Given the description of an element on the screen output the (x, y) to click on. 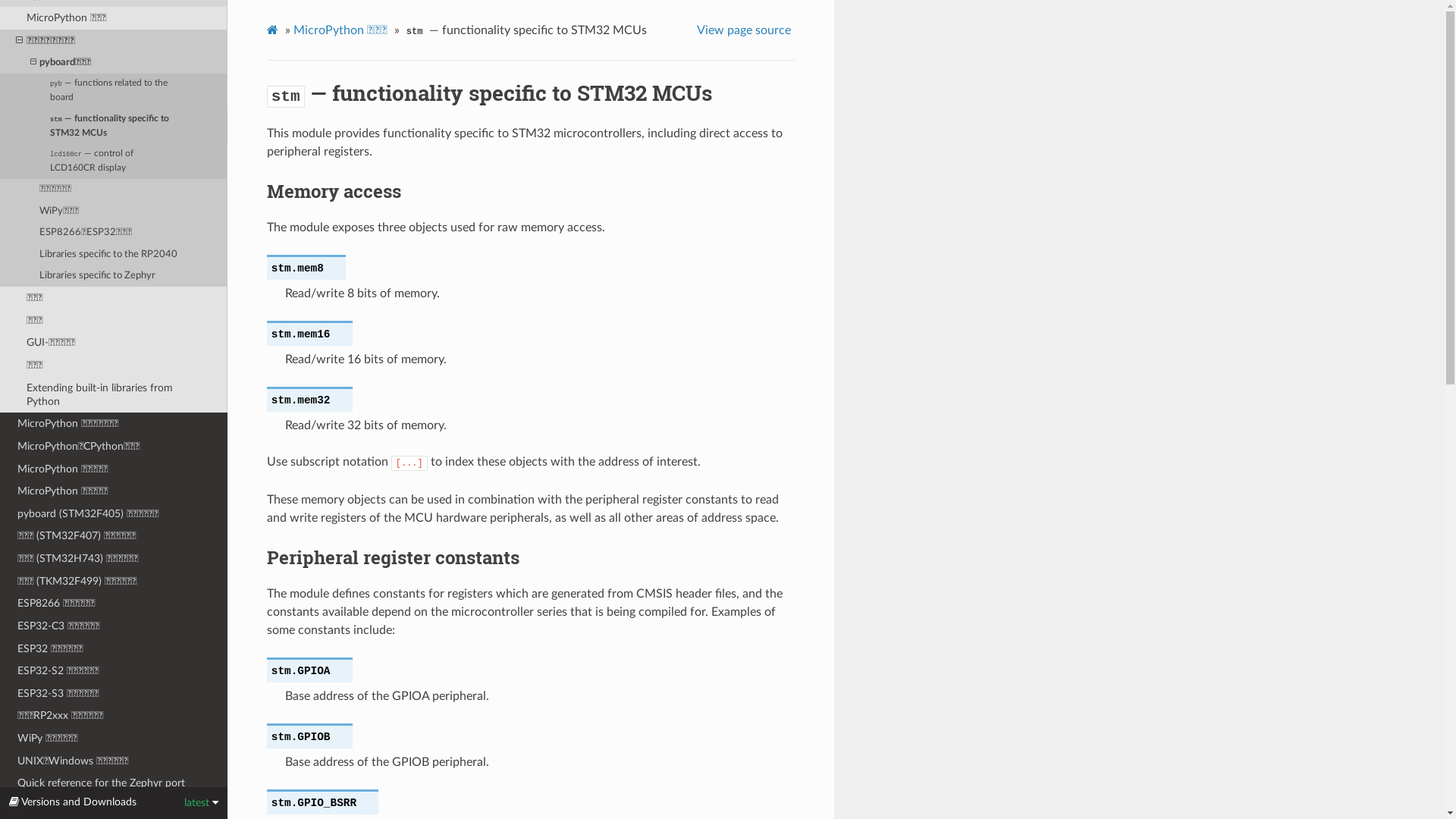
stm Element type: text (285, 92)
Libraries specific to Zephyr Element type: text (113, 275)
View page source Element type: text (745, 30)
Libraries specific to the RP2040 Element type: text (113, 253)
Extending built-in libraries from Python Element type: text (113, 394)
Quick reference for the Zephyr port Element type: text (113, 782)
